Given the description of an element on the screen output the (x, y) to click on. 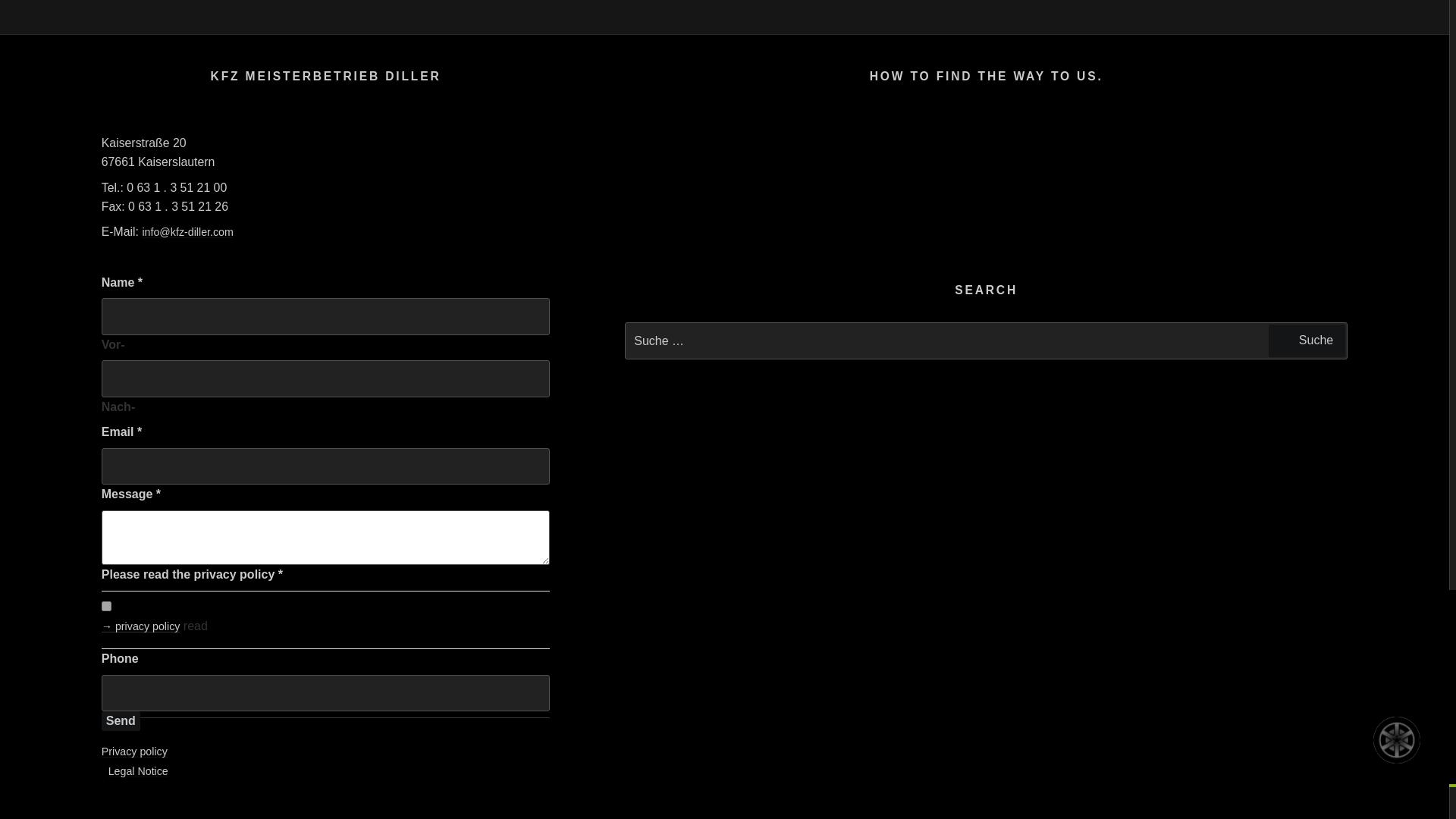
Suche (1306, 340)
Send (120, 721)
Legal Notice (137, 770)
Privacy policy (134, 751)
